Given the description of an element on the screen output the (x, y) to click on. 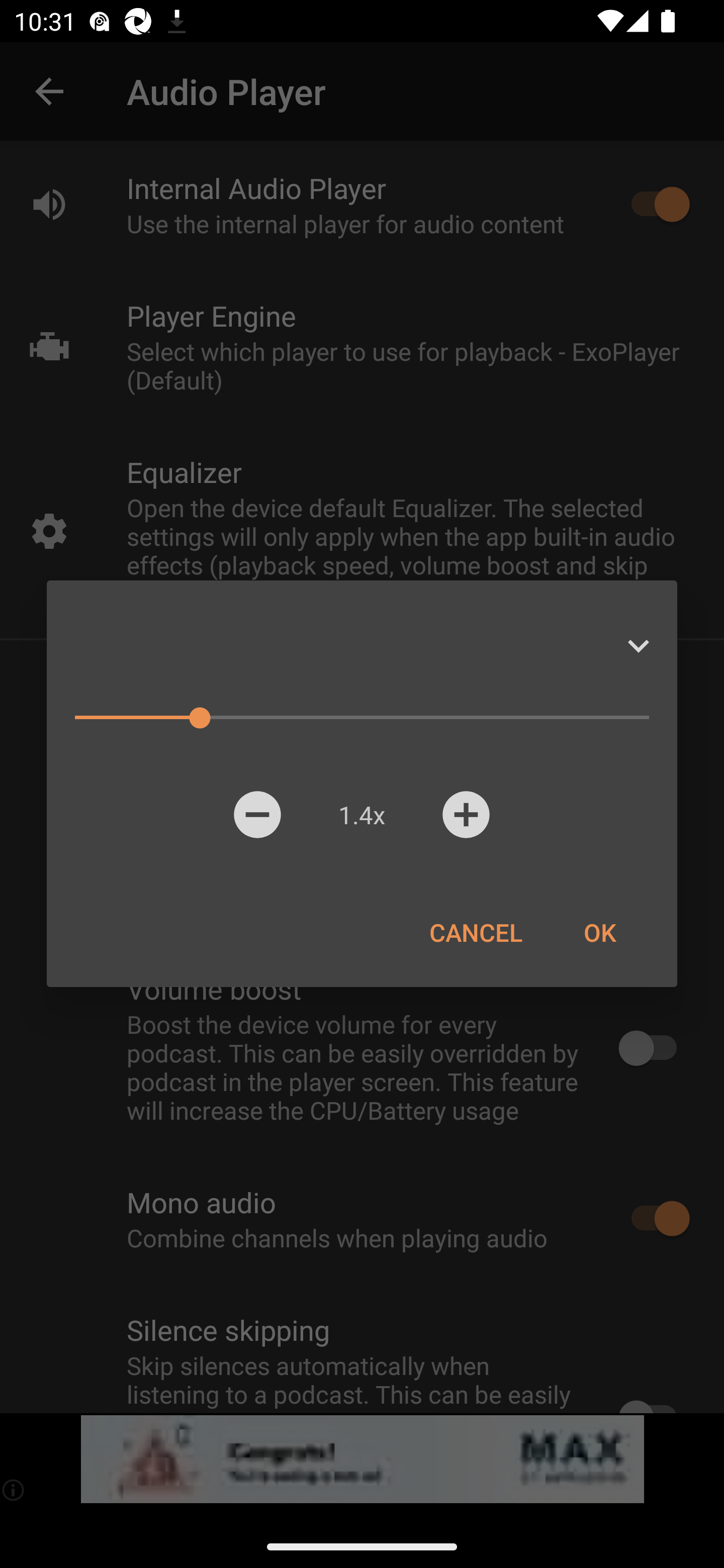
Expand (637, 645)
1.4x (361, 814)
CANCEL (475, 932)
OK (599, 932)
